Given the description of an element on the screen output the (x, y) to click on. 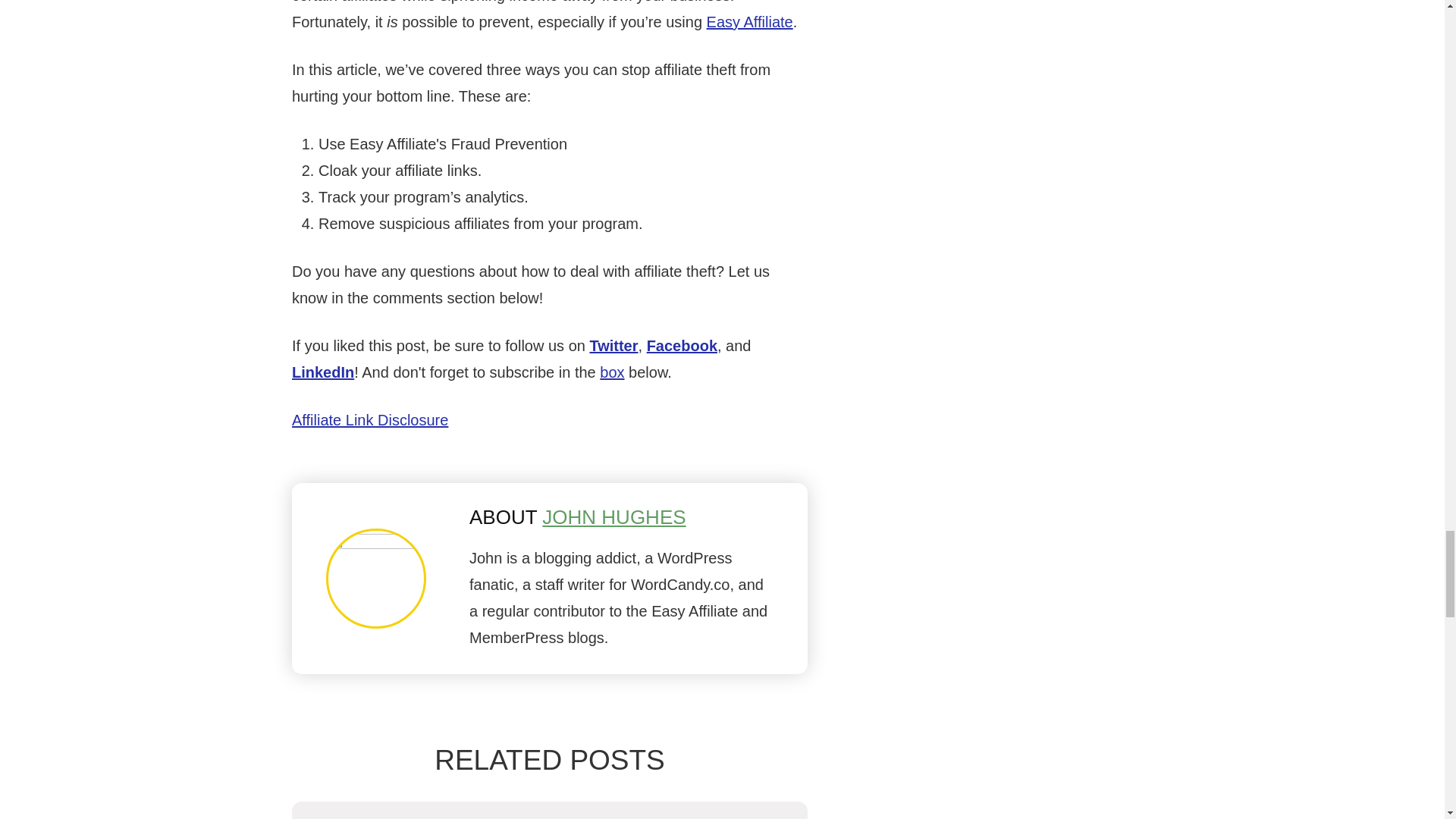
box (611, 371)
Facebook (681, 345)
Box affiliate link (611, 371)
Easy Affiliate (749, 21)
LinkedIn (322, 371)
Twitter (613, 345)
Affiliate Link Disclosure (370, 419)
